Given the description of an element on the screen output the (x, y) to click on. 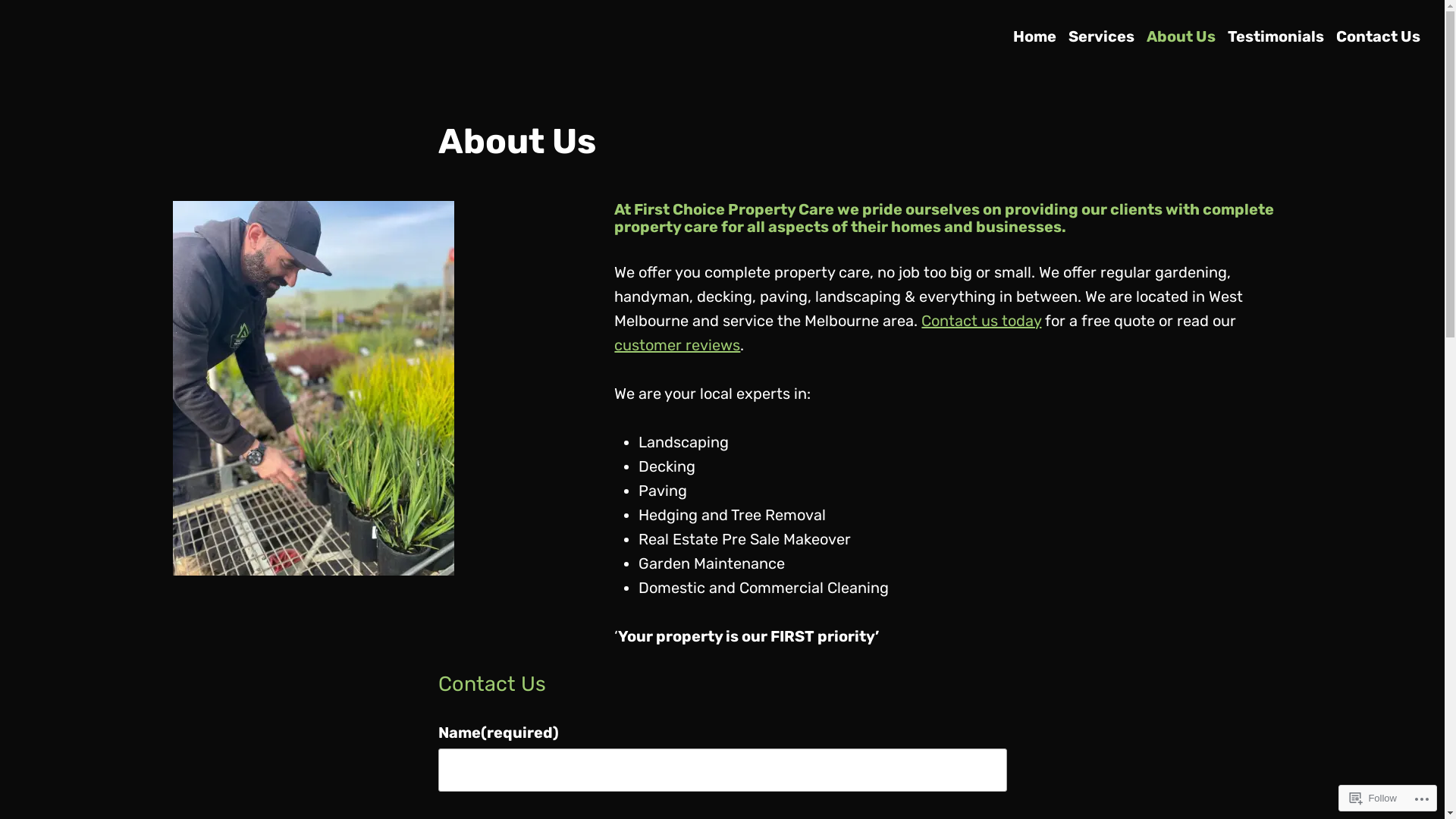
About Us Element type: text (1180, 35)
Follow Element type: text (1372, 797)
Contact us today Element type: text (981, 320)
Home Element type: text (1034, 35)
Services Element type: text (1101, 35)
Testimonials Element type: text (1275, 35)
customer reviews Element type: text (677, 344)
Contact Us Element type: text (1378, 35)
